Given the description of an element on the screen output the (x, y) to click on. 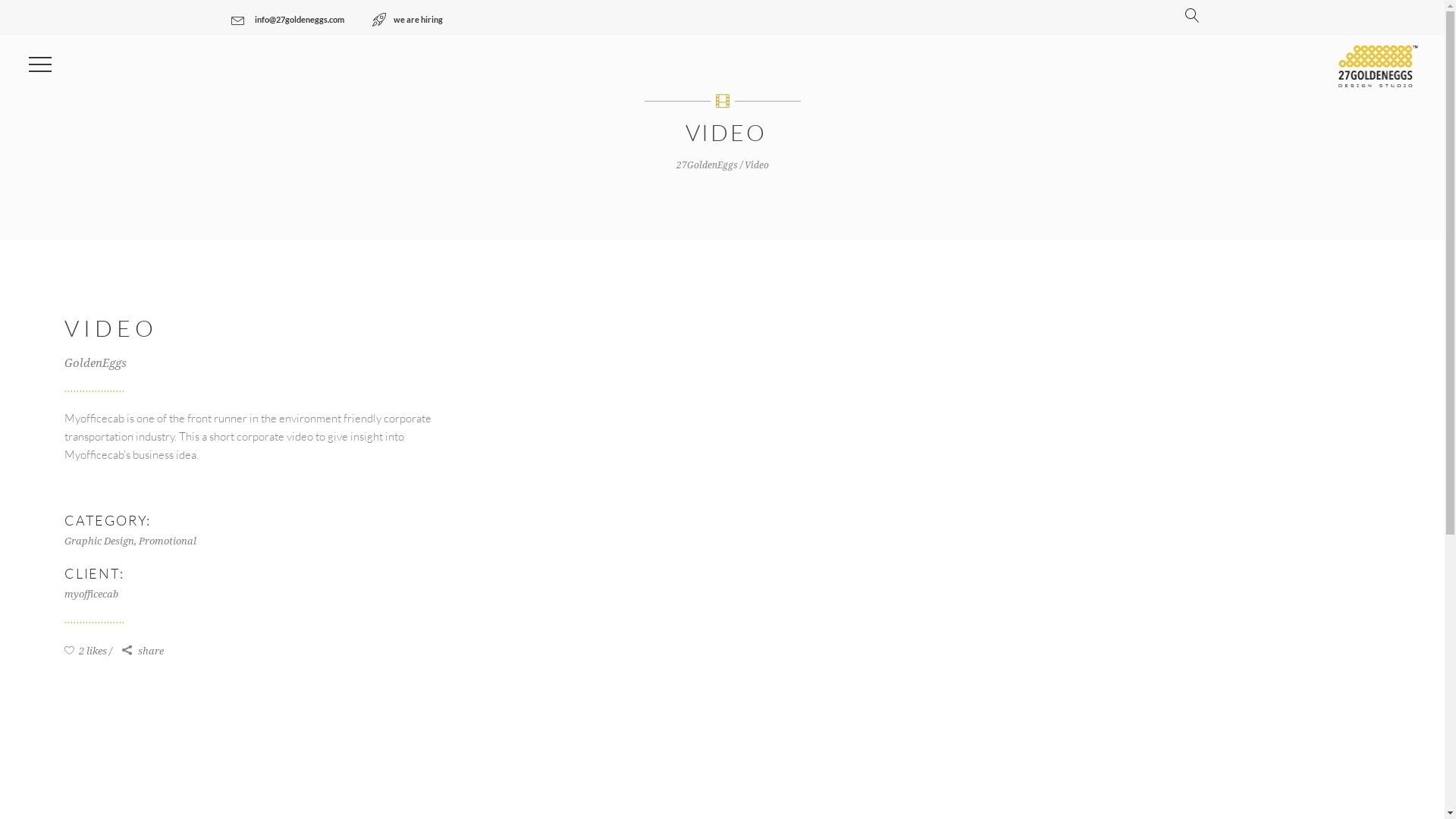
2 likes Element type: text (88, 650)
info@27goldeneggs.com Element type: text (286, 19)
U Element type: text (1069, 402)
we are hiring Element type: text (406, 19)
27GoldenEggs Element type: text (706, 165)
share Element type: text (142, 651)
